Given the description of an element on the screen output the (x, y) to click on. 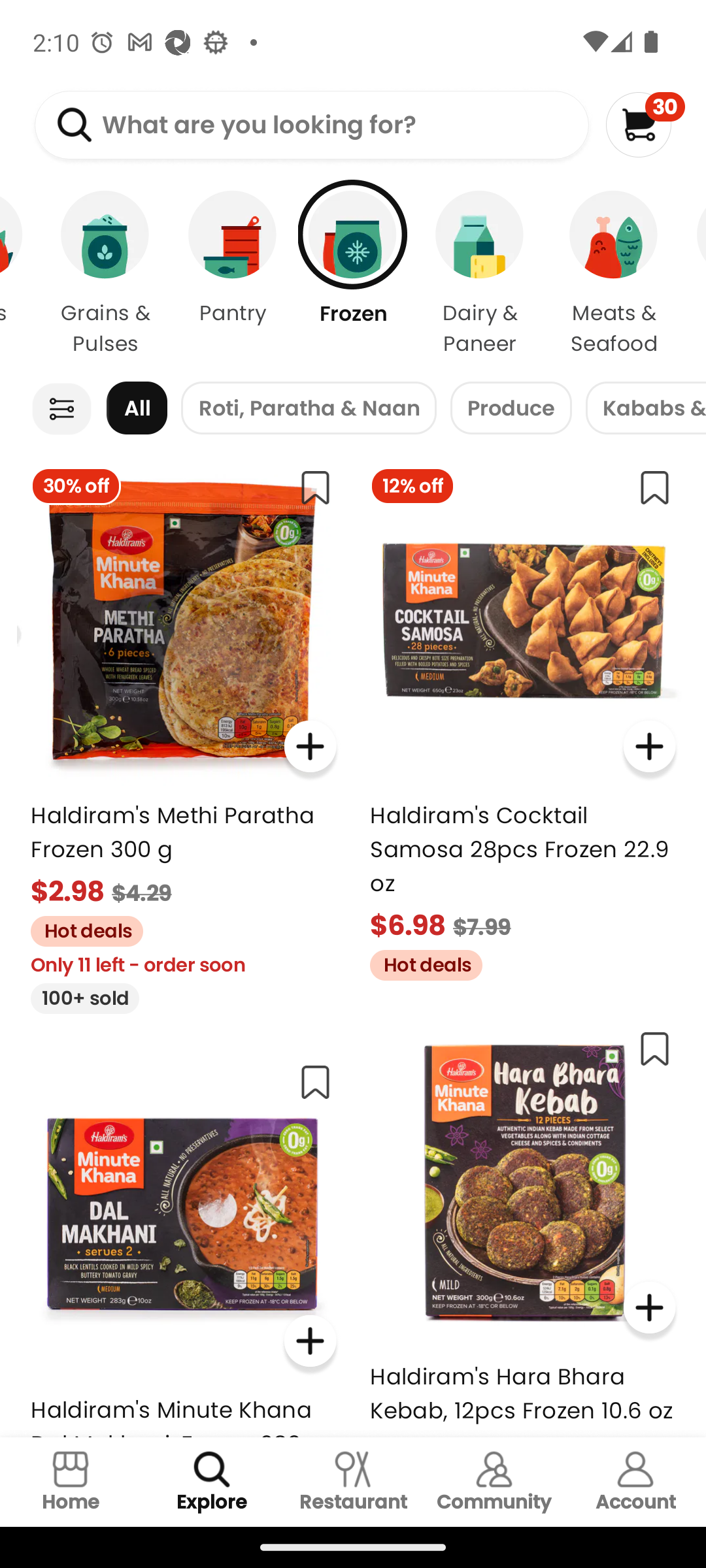
What are you looking for? (311, 124)
30 (644, 124)
Grains & Pulses (105, 274)
Pantry (232, 274)
Frozen (352, 274)
Dairy & Paneer (480, 274)
Meats & Seafood (614, 274)
All (136, 407)
Roti, Paratha & Naan (308, 407)
Produce (510, 407)
Kababs & Patties (645, 407)
Hot deals (79, 929)
Hot deals (419, 961)
Haldiram's Minute Khana Dal Makhani, Frozen 283 g (182, 1242)
Home (70, 1482)
Explore (211, 1482)
Restaurant (352, 1482)
Community (493, 1482)
Account (635, 1482)
